Given the description of an element on the screen output the (x, y) to click on. 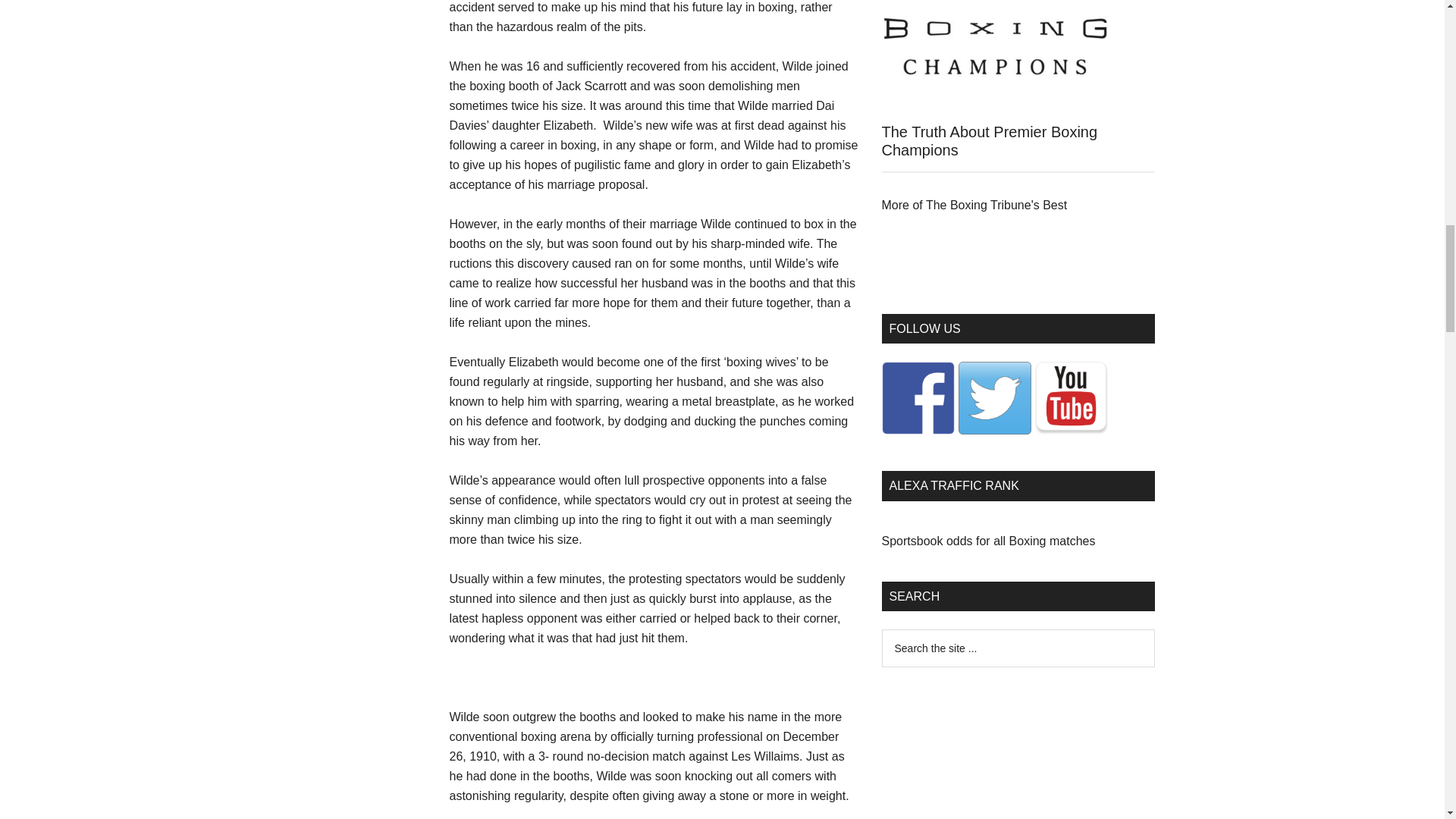
Sportsbook odds for all Boxing matches (987, 540)
More of The Boxing Tribune's Best (973, 205)
Follow us on Twitter (994, 397)
The Truth About Premier Boxing Champions (988, 140)
Follow us on Facebook (916, 397)
Sportsbook odds for all Boxing matches (987, 540)
bestof (973, 205)
Find us on YouTube (1069, 397)
